Given the description of an element on the screen output the (x, y) to click on. 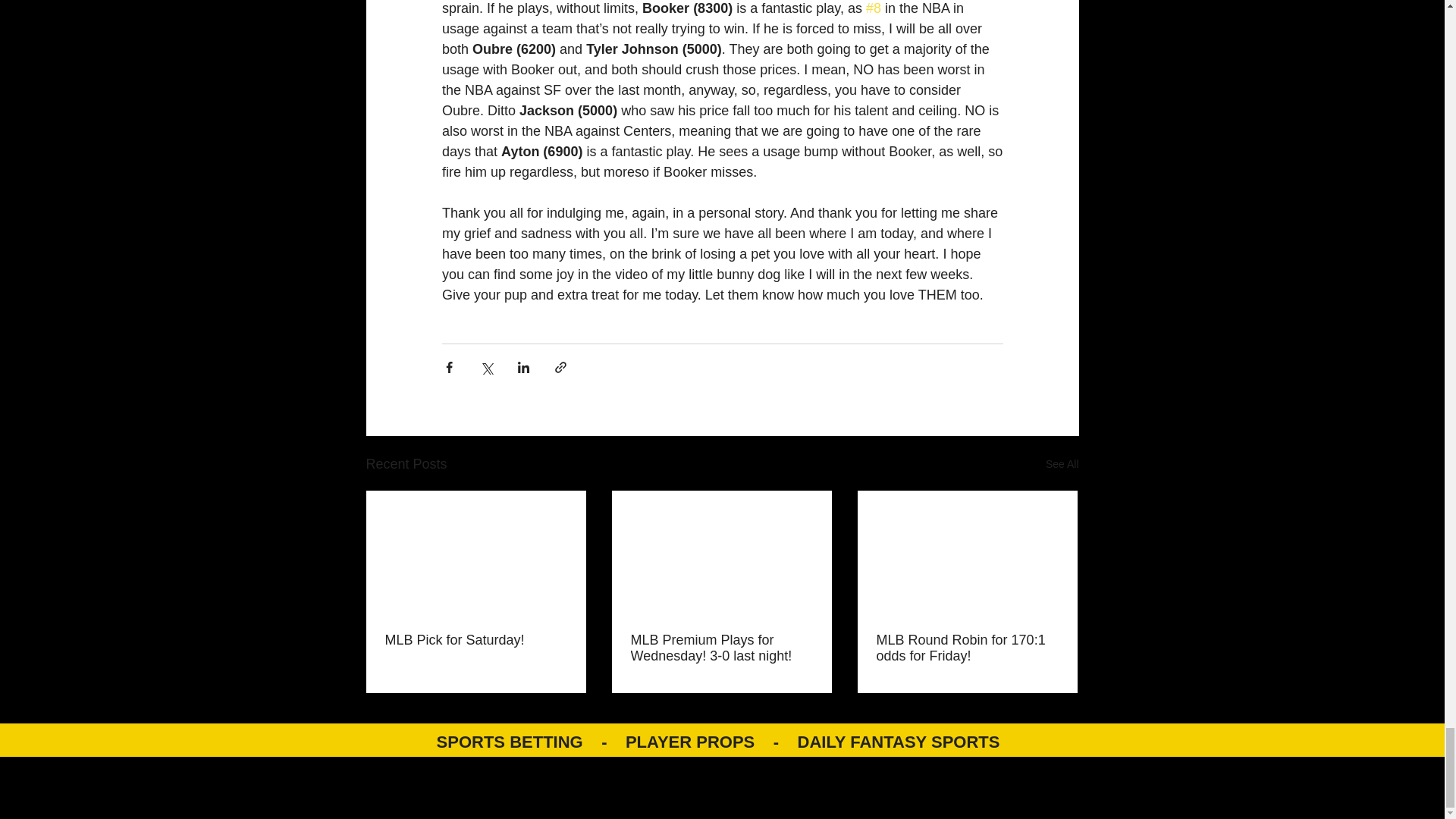
See All (1061, 464)
MLB Pick for Saturday! (476, 640)
MLB Round Robin for 170:1 odds for Friday! (967, 648)
MLB Premium Plays for Wednesday! 3-0 last night! (721, 648)
